Given the description of an element on the screen output the (x, y) to click on. 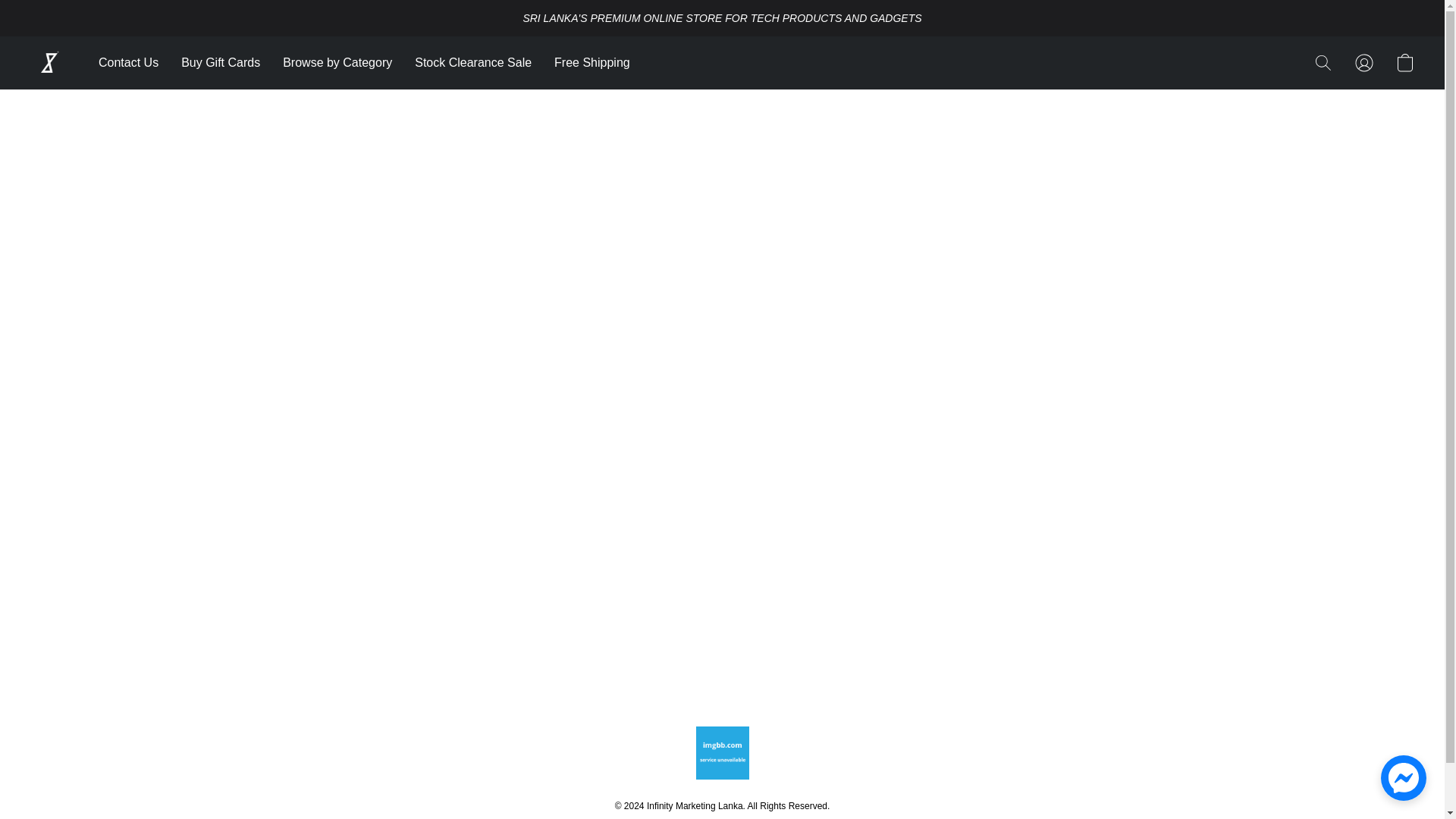
Search the website (1323, 62)
Buy Gift Cards (220, 62)
Browse by Category (336, 62)
Contact Us (134, 62)
Free Shipping (586, 62)
Go to your shopping cart (1404, 62)
Stock Clearance Sale (473, 62)
